Given the description of an element on the screen output the (x, y) to click on. 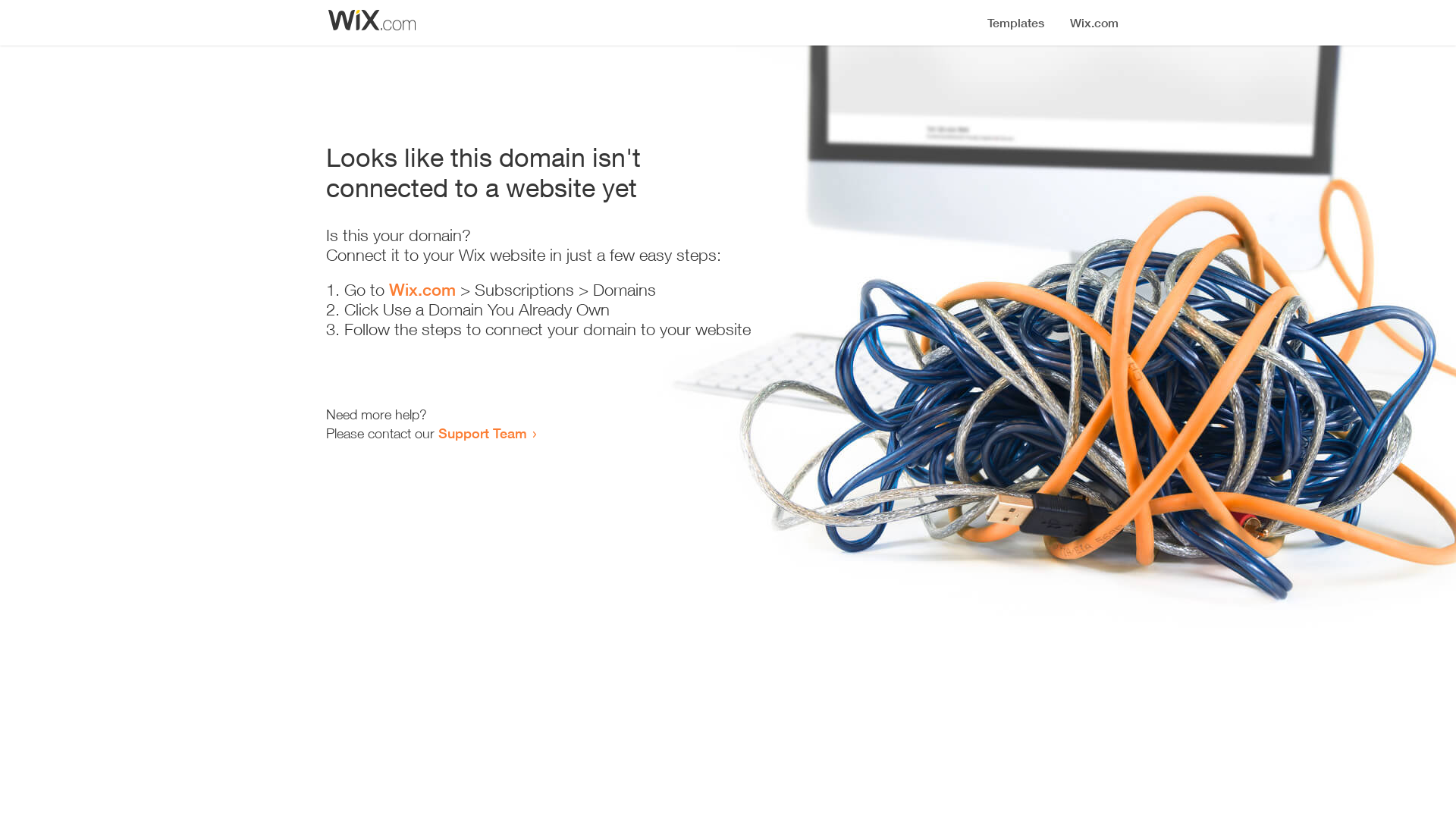
Wix.com Element type: text (422, 289)
Support Team Element type: text (482, 432)
